Given the description of an element on the screen output the (x, y) to click on. 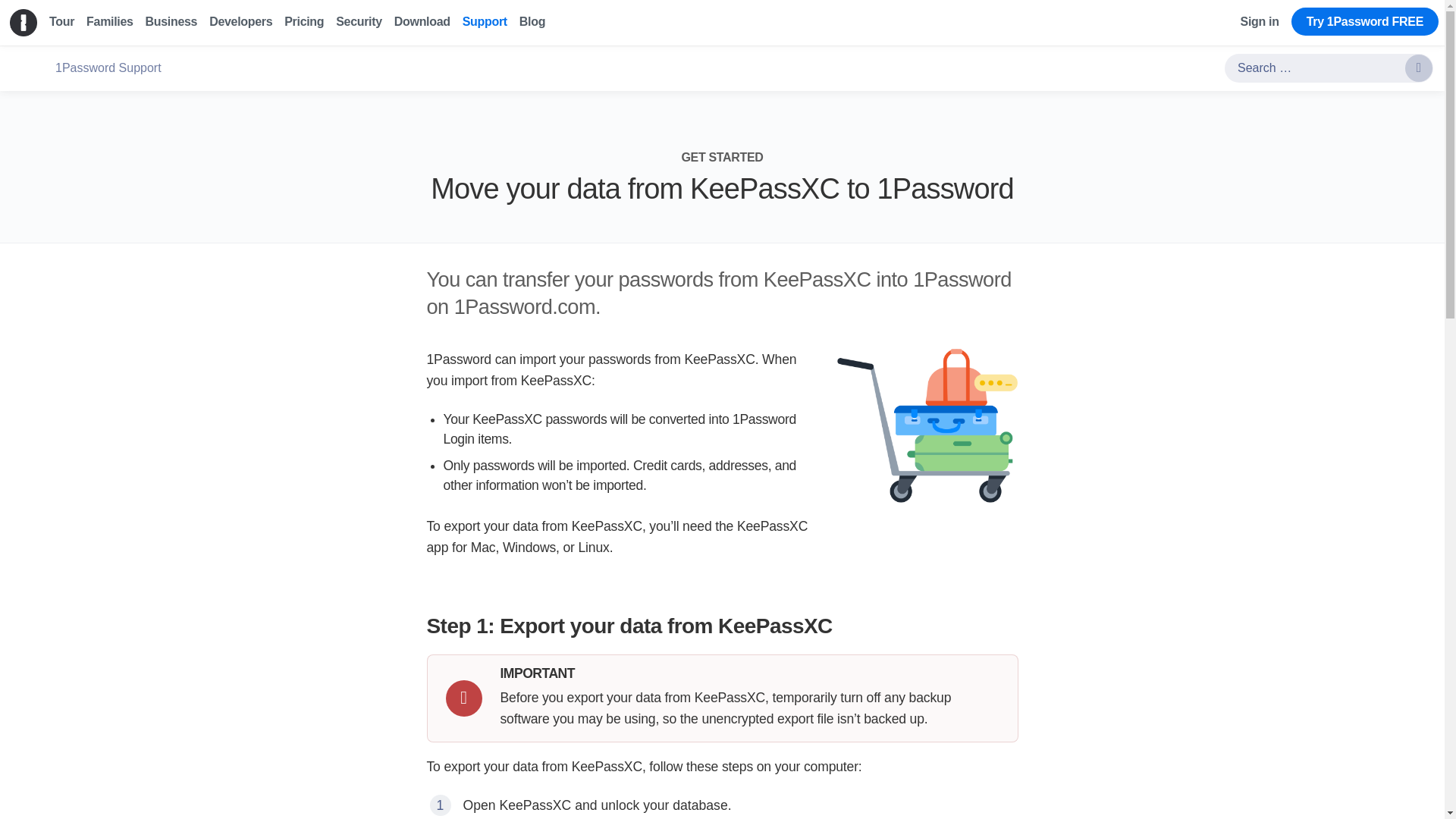
Security (358, 21)
Support (484, 21)
Blog (531, 21)
Try 1Password FREE (1364, 21)
Business (171, 21)
1Password Support (108, 68)
Developers (240, 21)
Pricing (303, 21)
Sign in (1259, 21)
Download (421, 21)
Tour (61, 21)
Families (108, 21)
GET STARTED (721, 156)
